Given the description of an element on the screen output the (x, y) to click on. 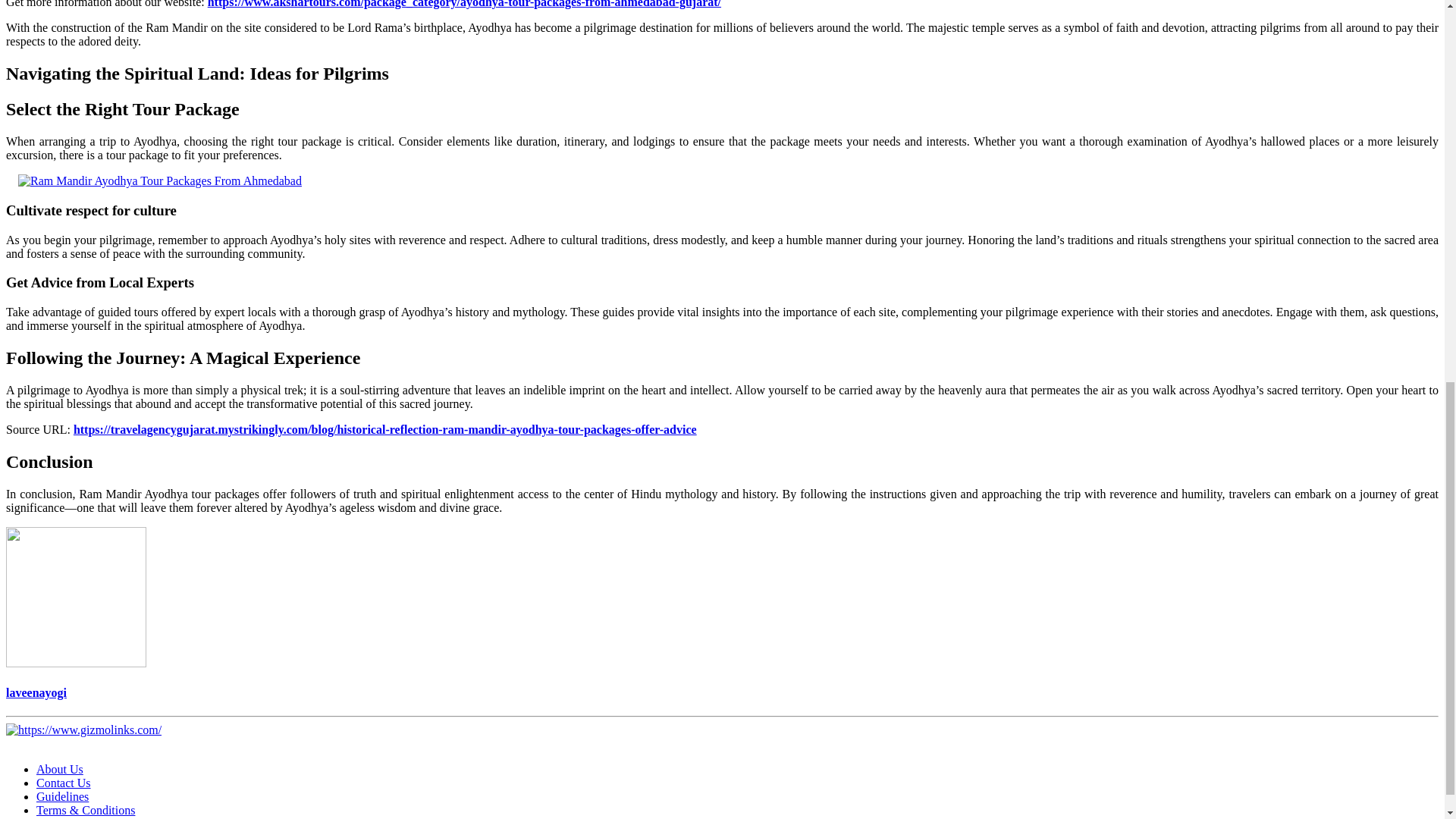
Ram Mandir Ayodhya Tour Packages From Ahmedabad (159, 181)
About Us (59, 768)
Guidelines (62, 796)
Contact Us (63, 782)
